Given the description of an element on the screen output the (x, y) to click on. 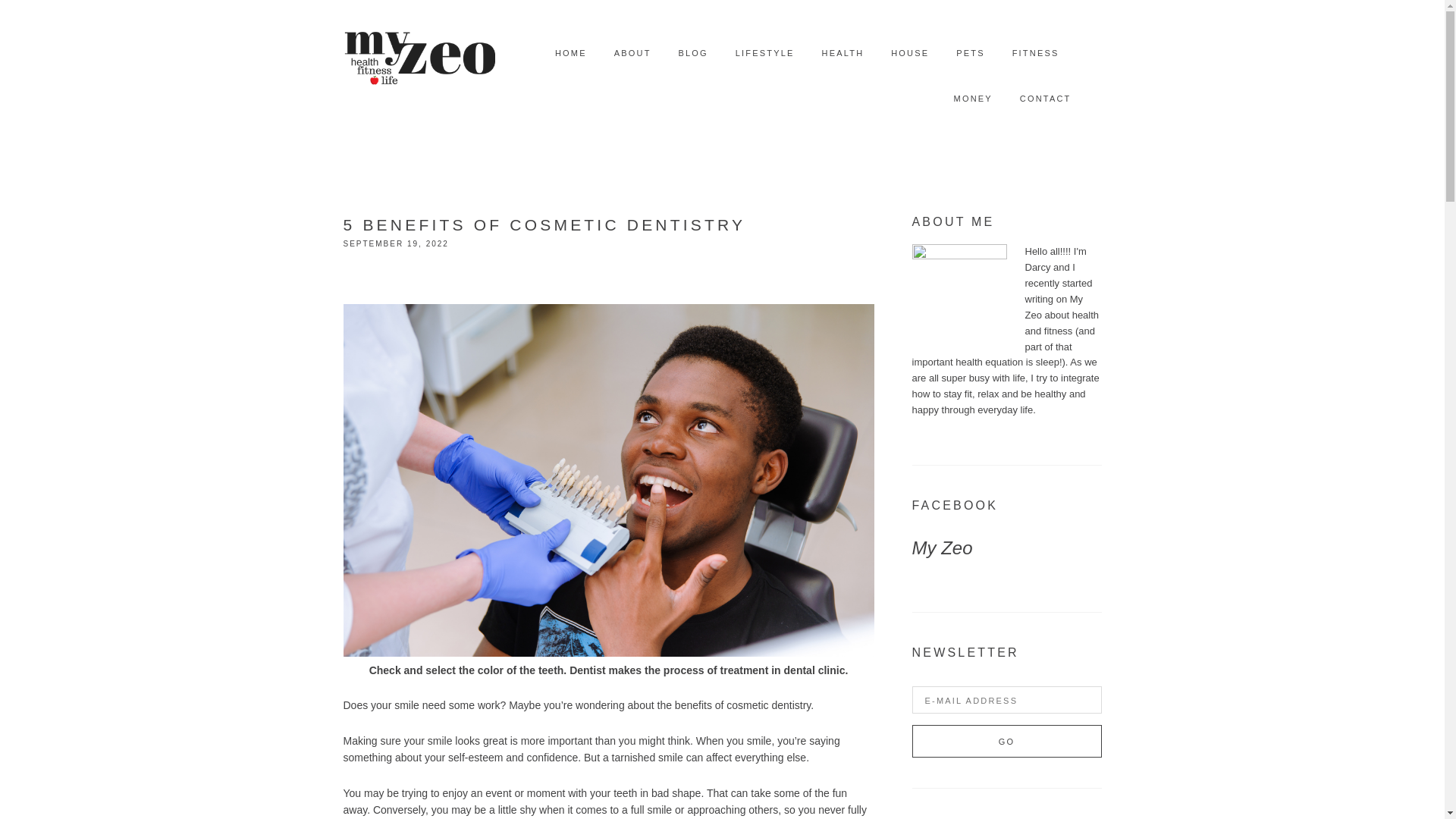
Go (1005, 740)
FITNESS (1035, 53)
MY ZEO (418, 53)
HEALTH (843, 53)
CONTACT (1045, 98)
My Zeo (941, 547)
Go (1005, 740)
LIFESTYLE (764, 53)
